Given the description of an element on the screen output the (x, y) to click on. 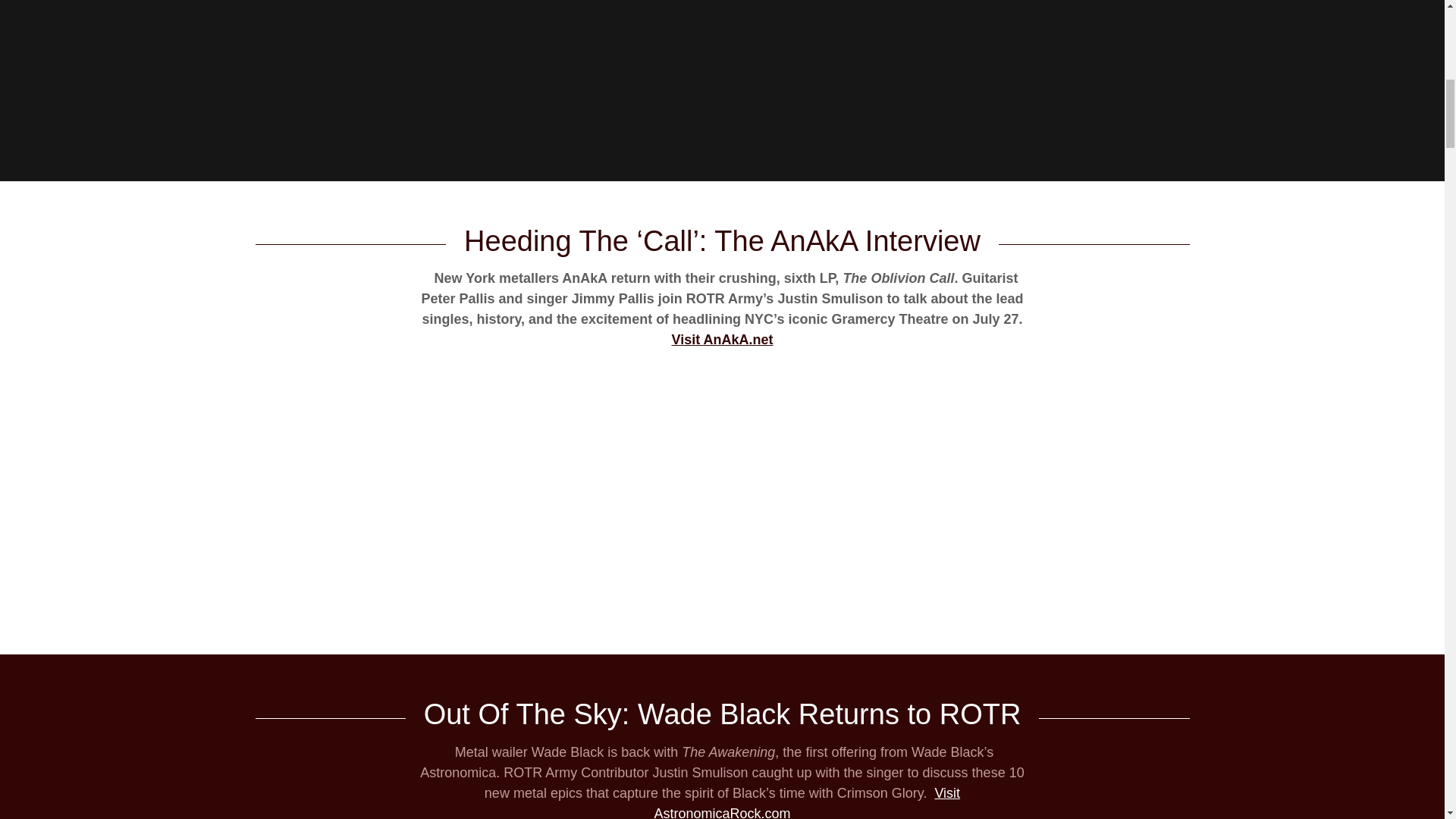
Visit AstronomicaRock.com (806, 802)
Clickable audio widget (721, 67)
Visit AnAkA.net (722, 339)
Clickable audio widget (721, 494)
